Given the description of an element on the screen output the (x, y) to click on. 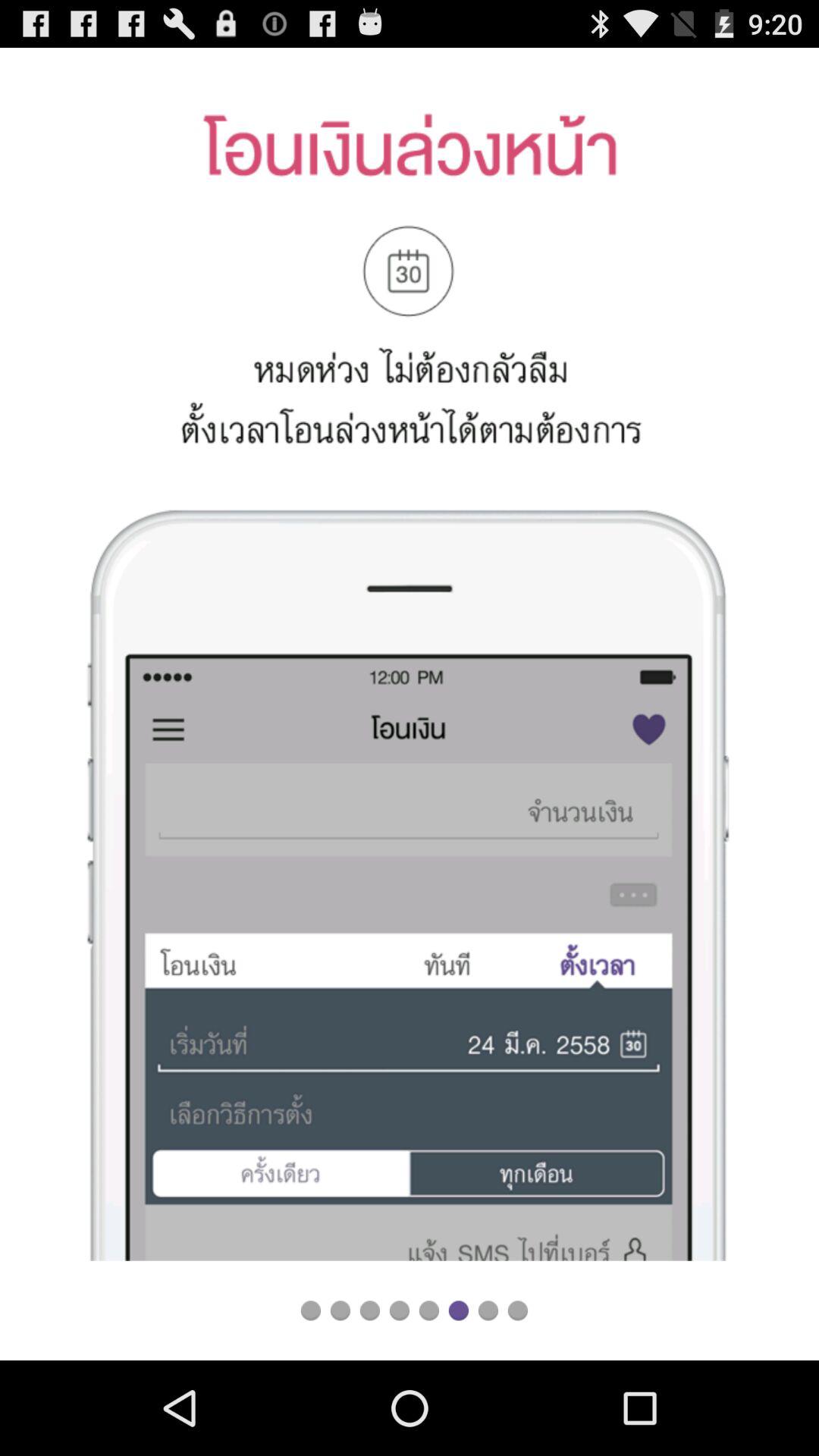
go next (458, 1310)
